Given the description of an element on the screen output the (x, y) to click on. 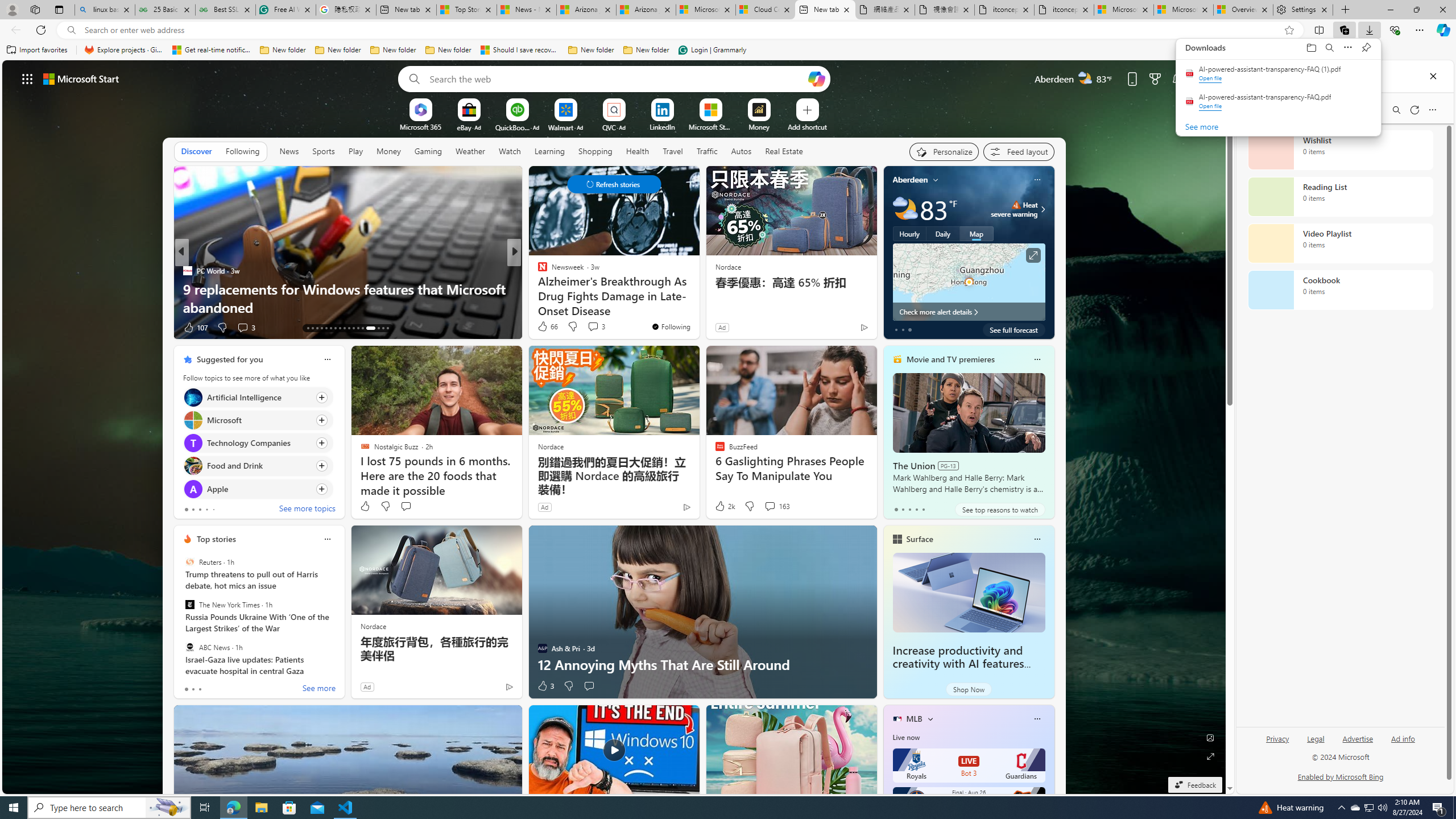
tab-4 (923, 509)
Reading List collection, 0 items (1339, 196)
55 Like (543, 327)
AutomationID: tab-20 (339, 328)
AutomationID: backgroundImagePicture (613, 426)
Page settings (1200, 78)
Health (637, 151)
Start the conversation (588, 685)
Edit Background (1210, 737)
Gaming (428, 151)
3 Like (545, 685)
Play (355, 151)
tab-0 (185, 689)
